Given the description of an element on the screen output the (x, y) to click on. 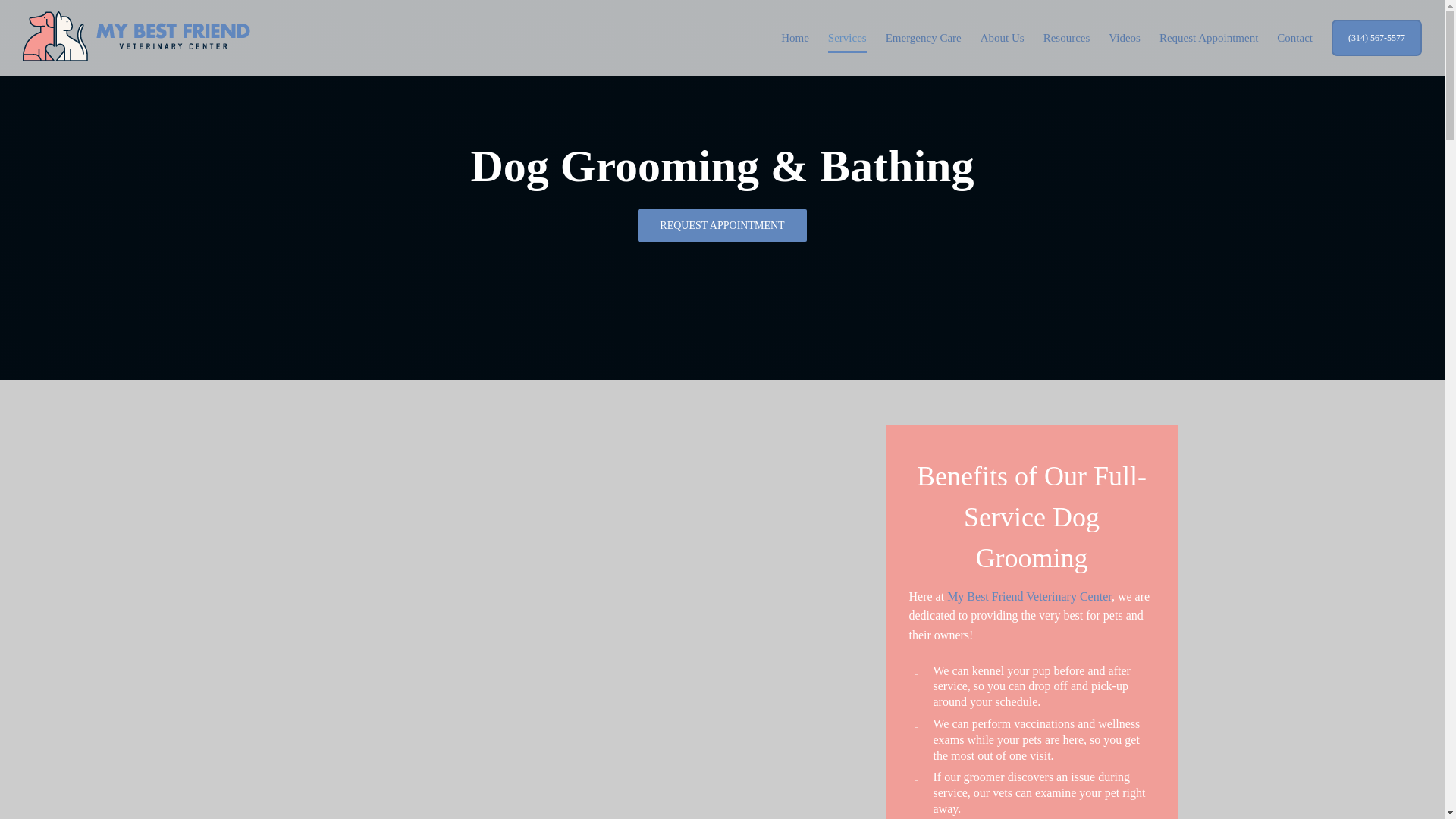
Request Appointment (1207, 38)
Emergency Care (922, 38)
